Given the description of an element on the screen output the (x, y) to click on. 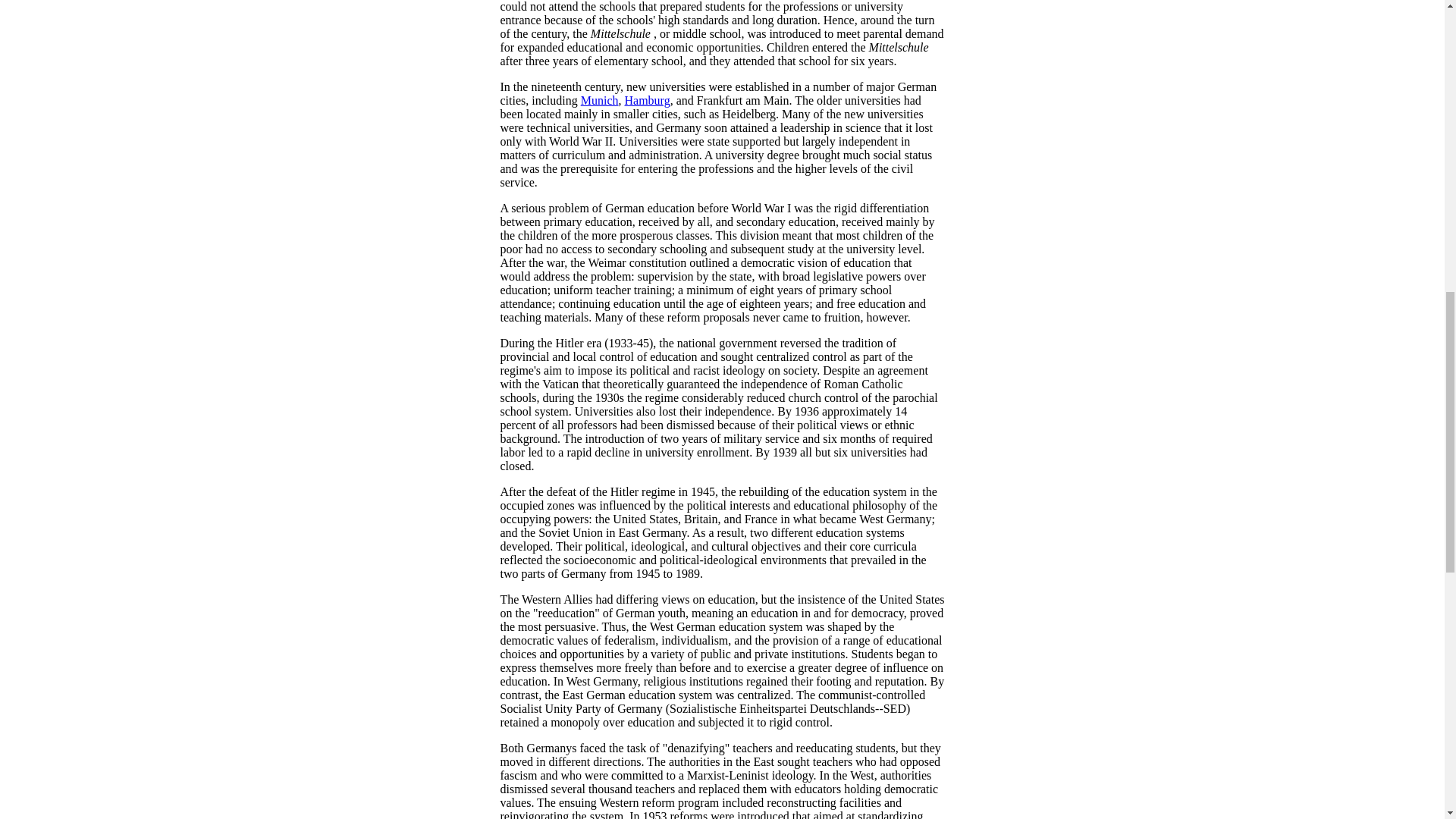
Hamburg (646, 100)
Munich (599, 100)
